Given the description of an element on the screen output the (x, y) to click on. 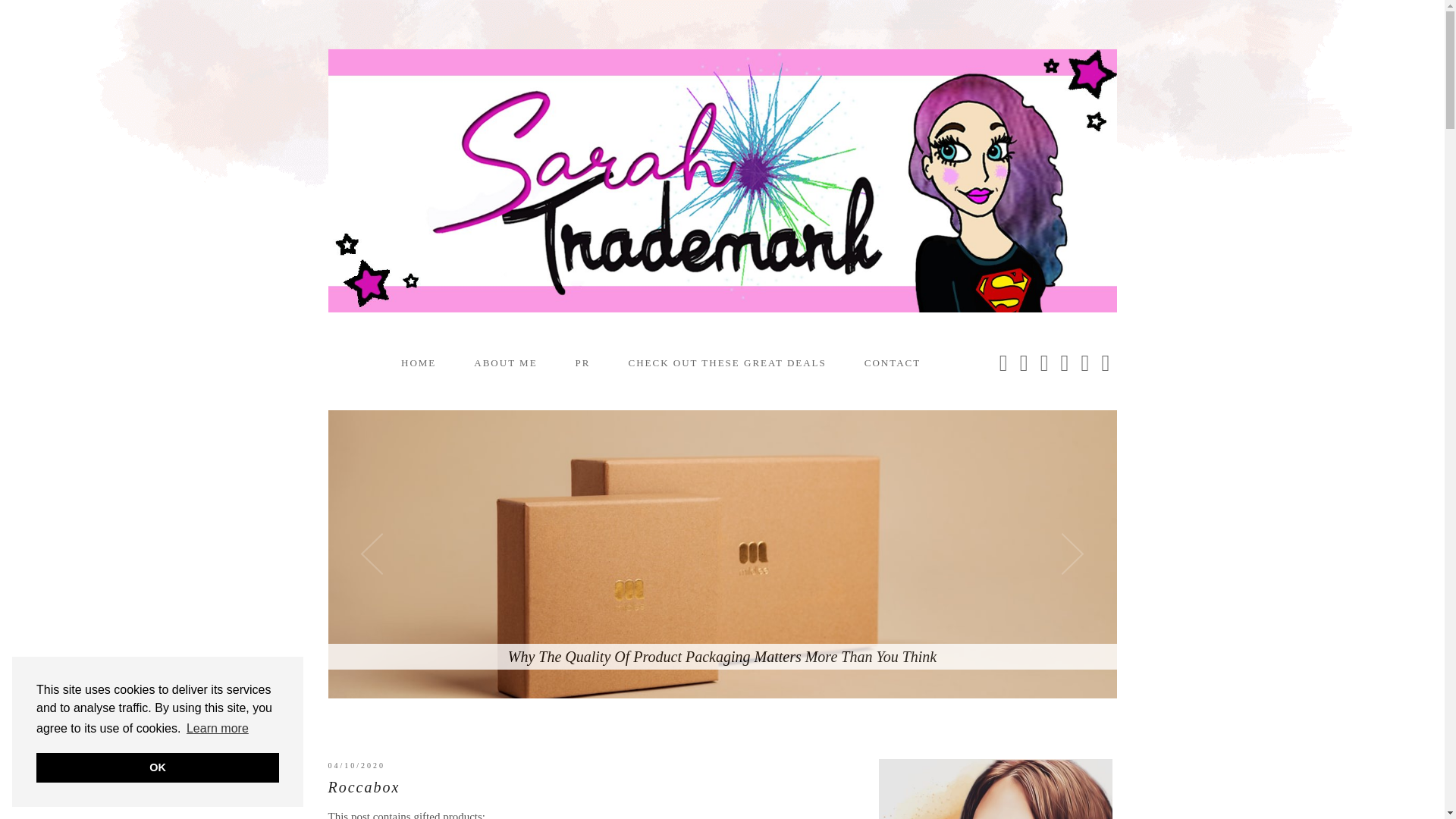
ABOUT ME (505, 362)
CHECK OUT THESE GREAT DEALS (727, 362)
CONTACT (892, 362)
HOME (417, 362)
OK (157, 767)
Learn more (217, 728)
PR (583, 362)
